Given the description of an element on the screen output the (x, y) to click on. 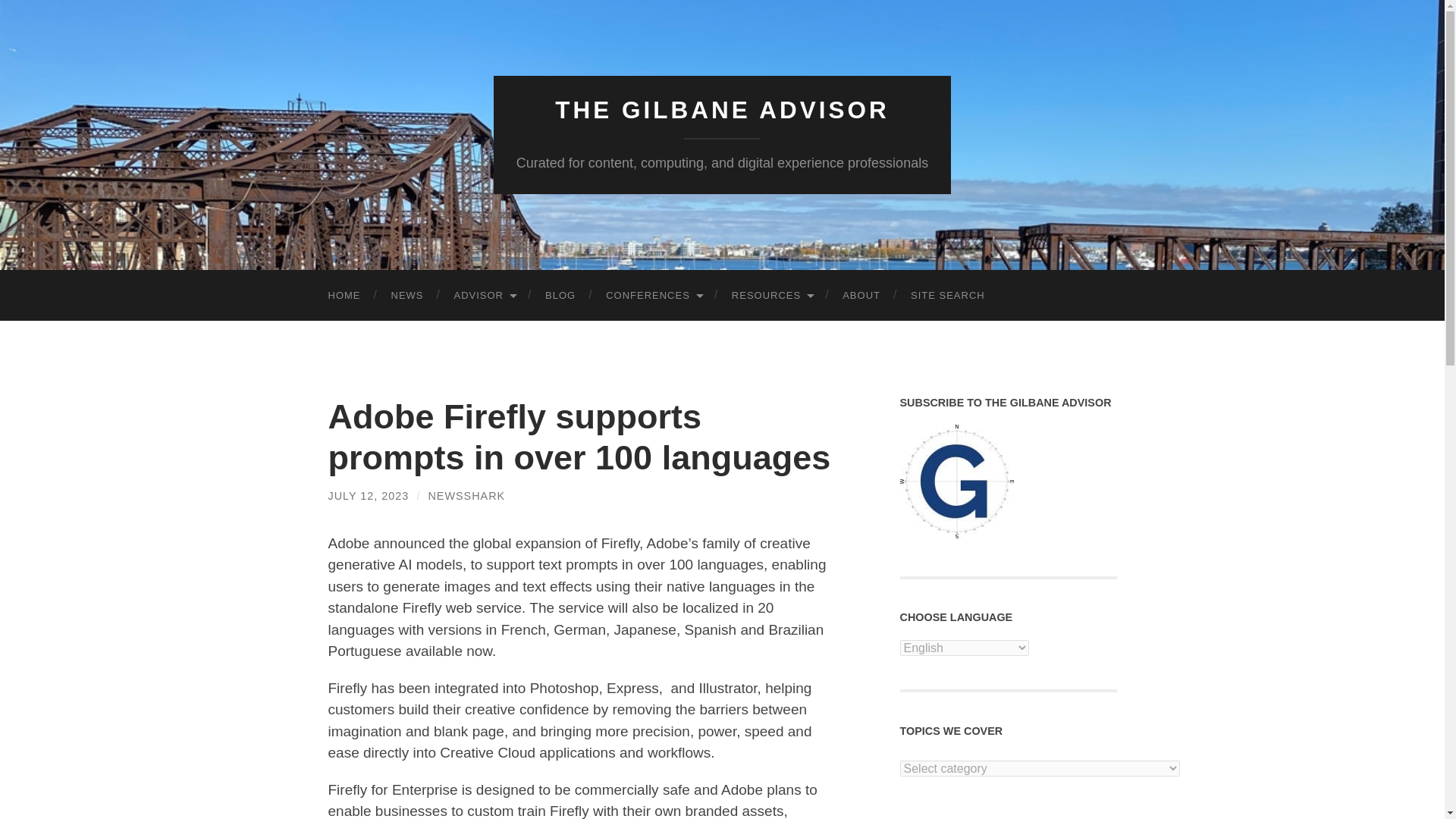
HOME (344, 295)
ADVISOR (483, 295)
NEWS (407, 295)
CONFERENCES (653, 295)
BLOG (560, 295)
THE GILBANE ADVISOR (721, 109)
RESOURCES (771, 295)
ABOUT (861, 295)
Posts by NewsShark (466, 495)
SITE SEARCH (947, 295)
